Given the description of an element on the screen output the (x, y) to click on. 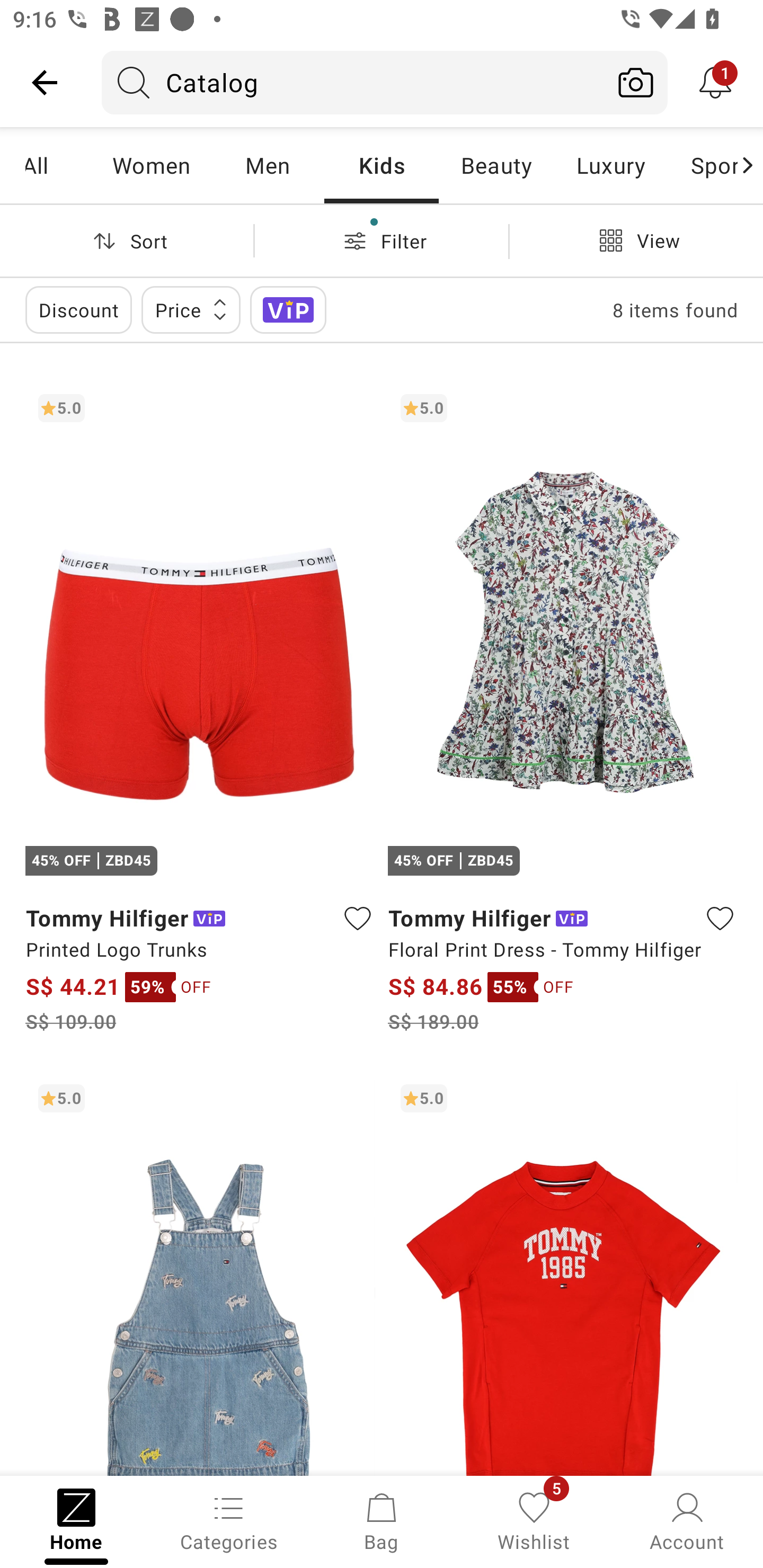
Navigate up (44, 82)
Catalog (352, 82)
All (59, 165)
Women (151, 165)
Men (266, 165)
Beauty (495, 165)
Luxury (610, 165)
Sort (126, 240)
Filter (381, 240)
View (636, 240)
Discount (78, 309)
Price (190, 309)
5.0 (200, 1272)
5.0 (562, 1272)
Categories (228, 1519)
Bag (381, 1519)
Wishlist, 5 new notifications Wishlist (533, 1519)
Account (686, 1519)
